Given the description of an element on the screen output the (x, y) to click on. 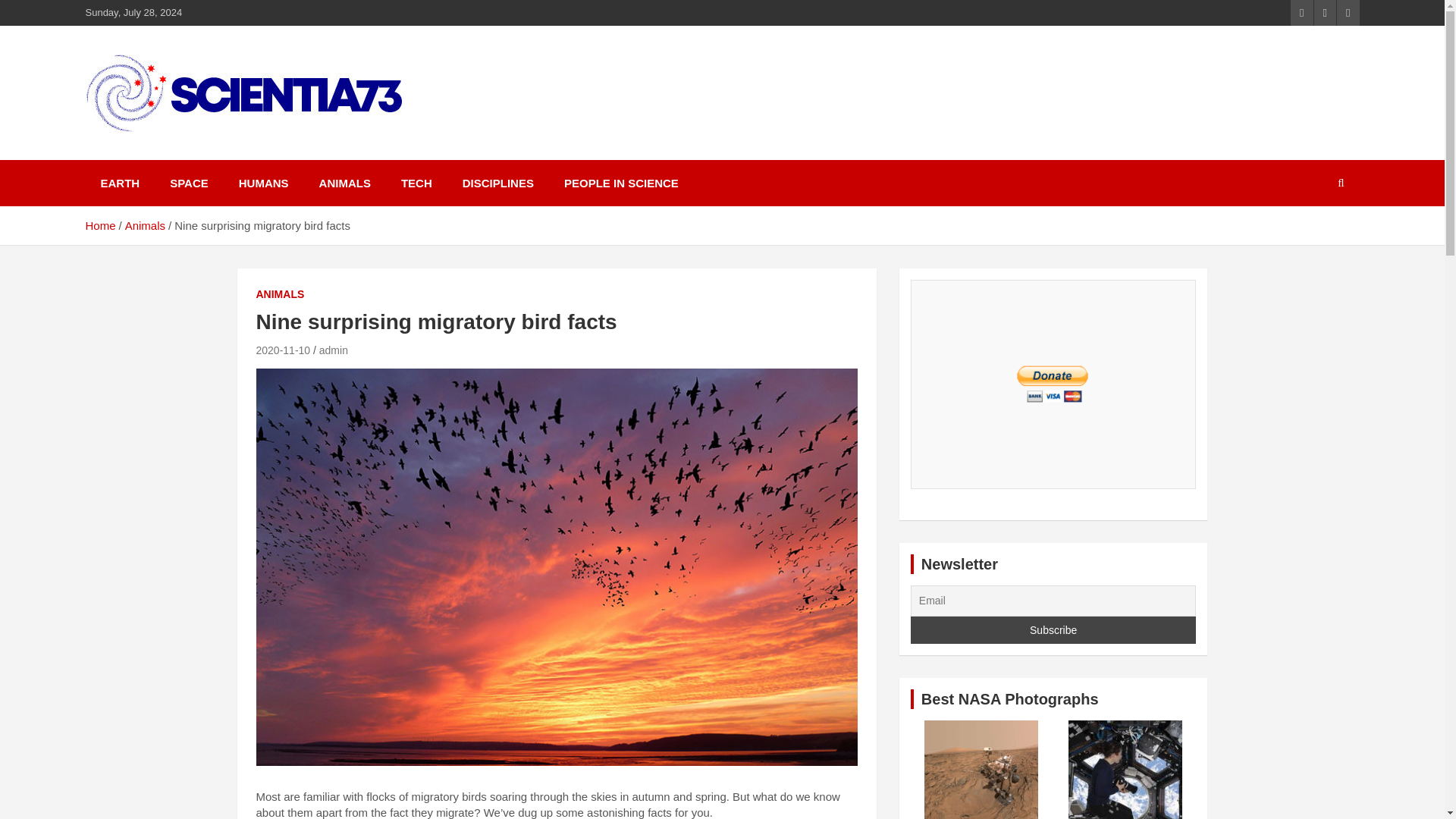
EARTH (119, 182)
Nine surprising migratory bird facts (283, 349)
TECH (415, 182)
ANIMALS (280, 294)
2020-11-10 (283, 349)
Subscribe (1053, 629)
DISCIPLINES (497, 182)
Home (99, 225)
PEOPLE IN SCIENCE (621, 182)
Subscribe (1053, 629)
admin (332, 349)
Animals (145, 225)
SPACE (189, 182)
Scientia73 (159, 156)
ANIMALS (344, 182)
